Given the description of an element on the screen output the (x, y) to click on. 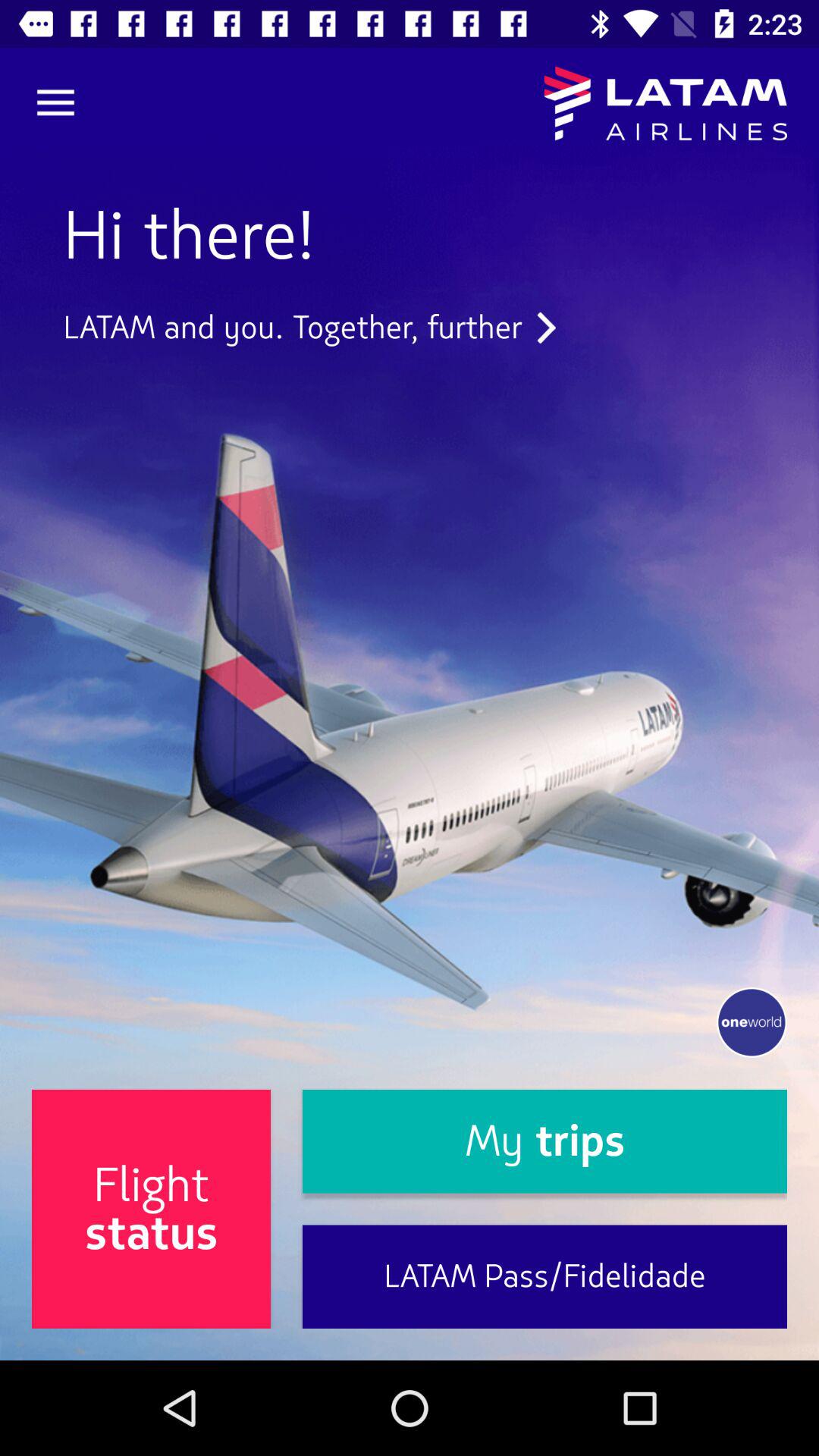
press the icon at the bottom left corner (150, 1208)
